Given the description of an element on the screen output the (x, y) to click on. 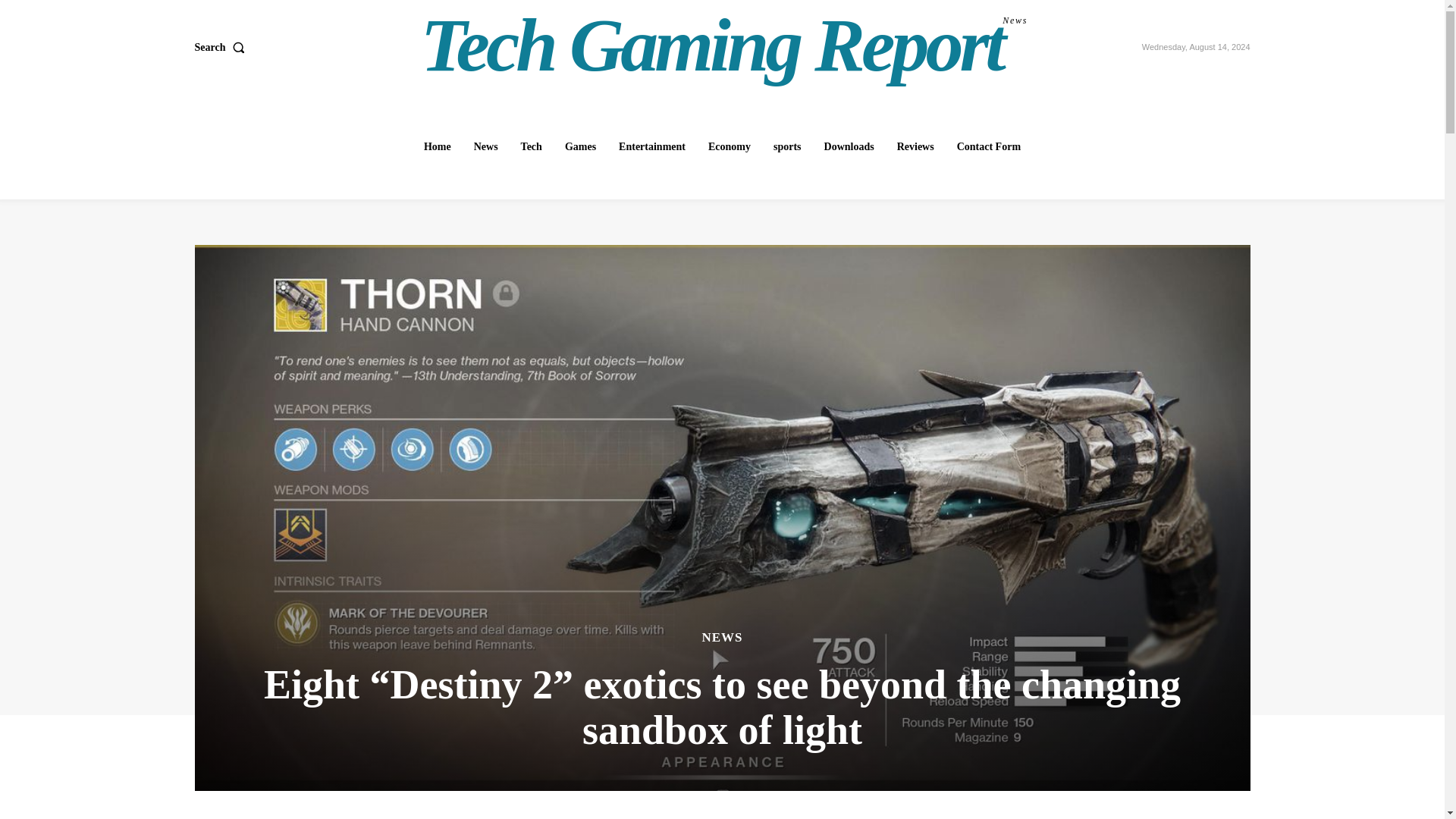
Reviews (915, 146)
Downloads (849, 146)
Tech (724, 45)
Home (531, 146)
sports (437, 146)
Economy (787, 146)
Games (729, 146)
Search (580, 146)
News (221, 47)
